Given the description of an element on the screen output the (x, y) to click on. 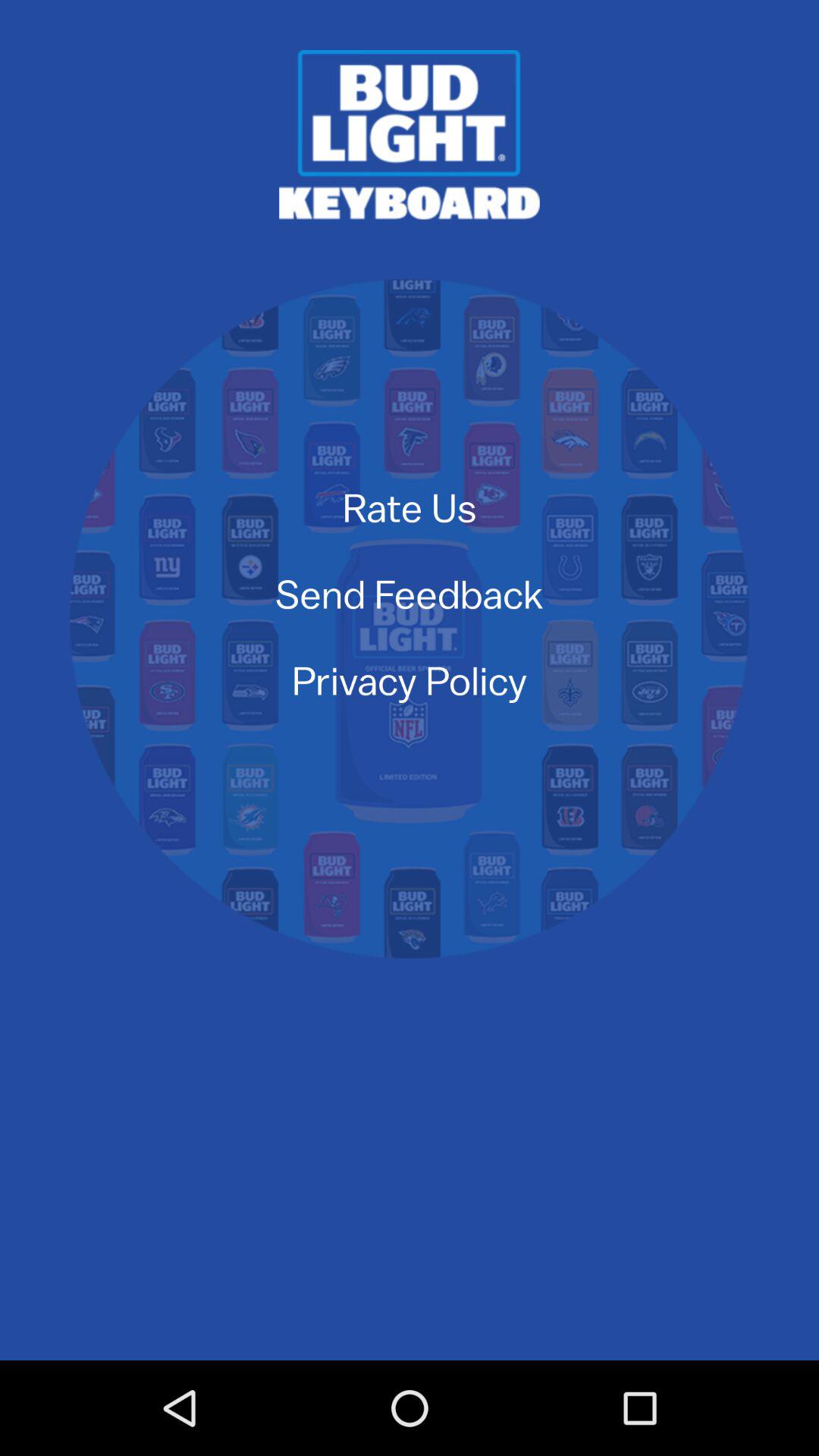
press the item below the rate us (409, 593)
